Given the description of an element on the screen output the (x, y) to click on. 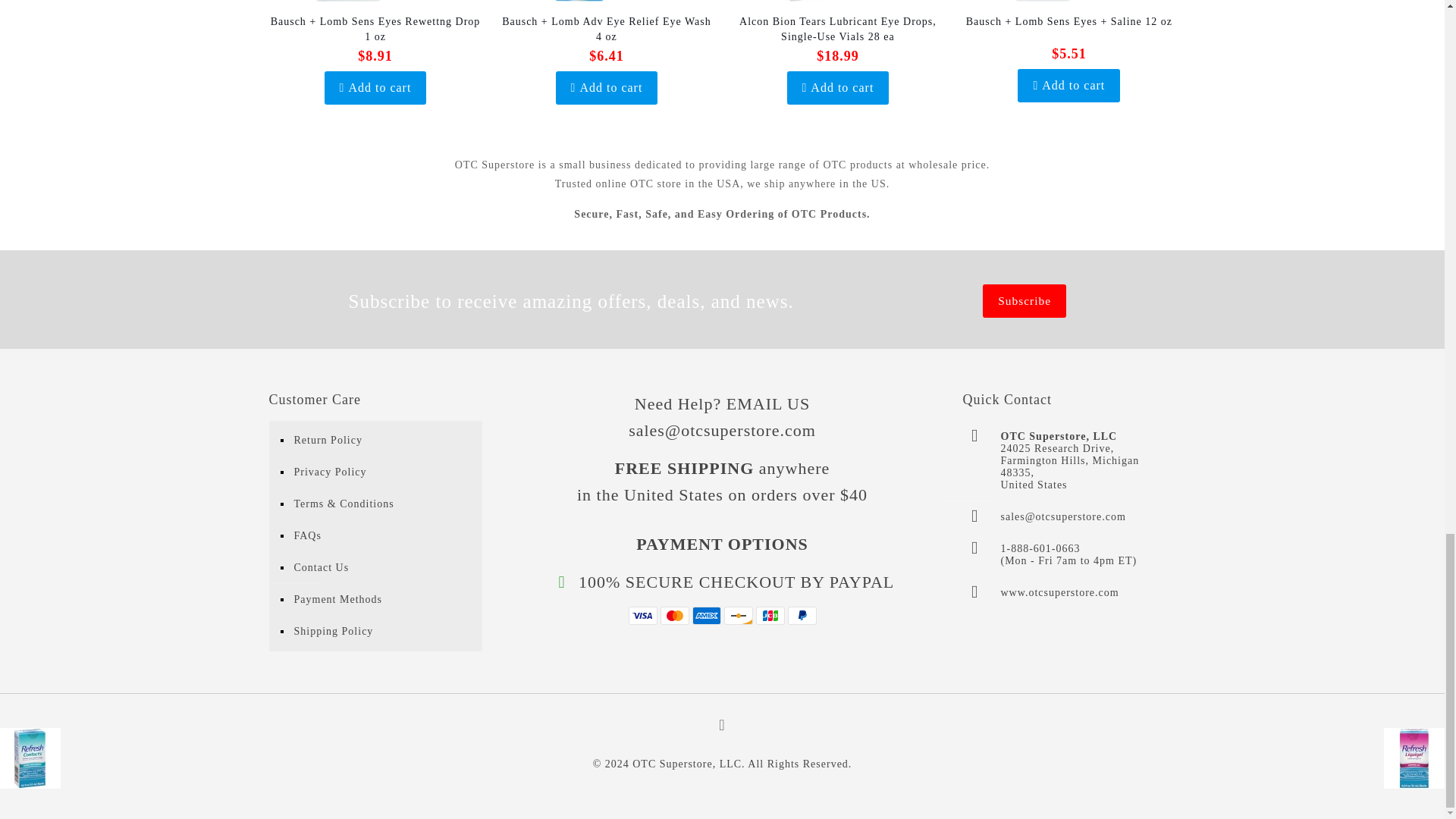
PayPal (801, 615)
Discover (737, 615)
JCB (769, 615)
American Express (705, 615)
Visa (641, 615)
Mastercard (673, 615)
